Given the description of an element on the screen output the (x, y) to click on. 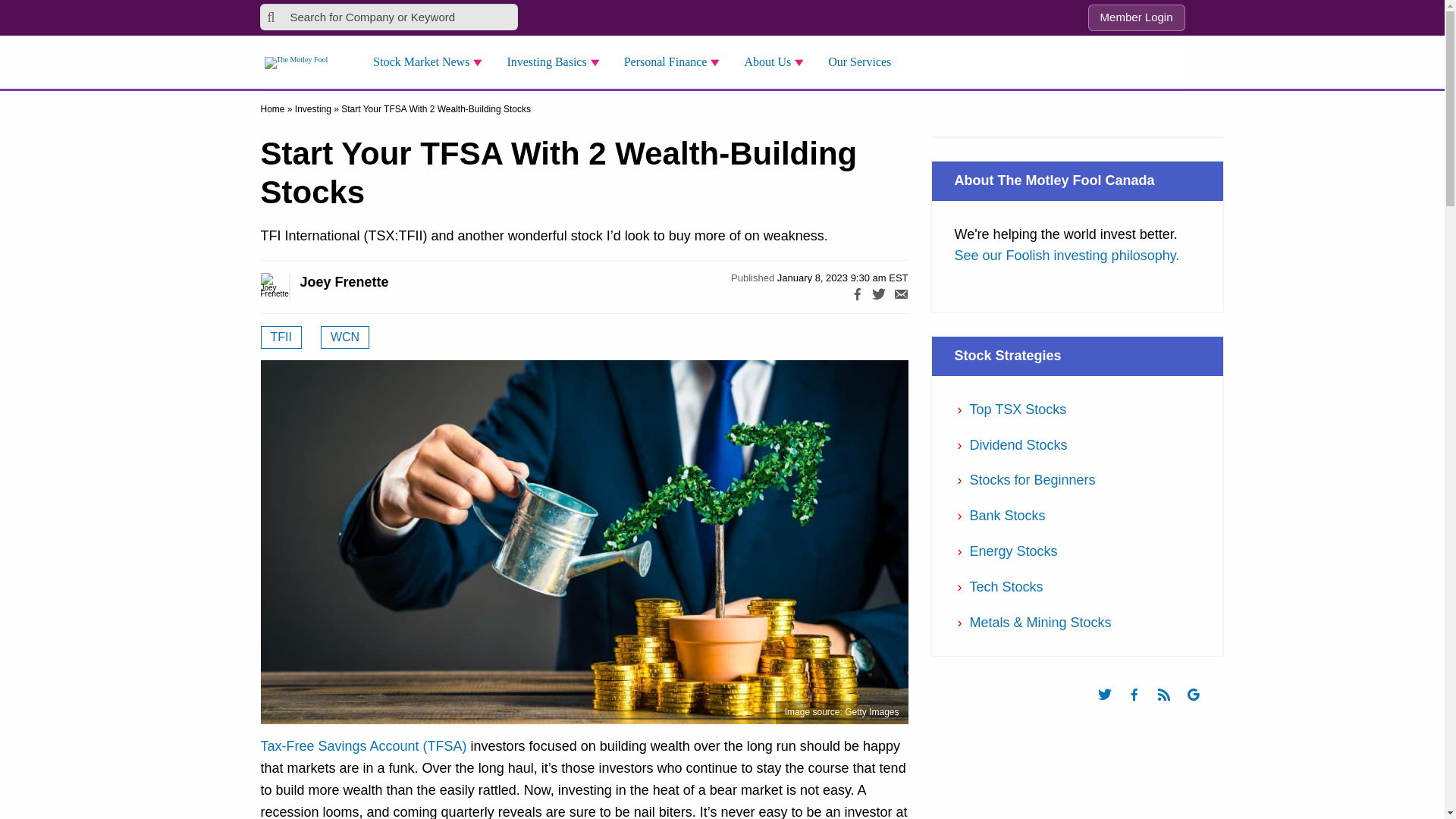
Investing Basics (556, 62)
Like us on Facebook (1141, 707)
Joey Frenette (290, 286)
Subscribe to our feed (1171, 707)
Follow us on Twitter (1111, 707)
See more articles about TFII (280, 336)
Stock Market News (432, 62)
See more articles about WCN (344, 336)
Member Login (1136, 17)
